Given the description of an element on the screen output the (x, y) to click on. 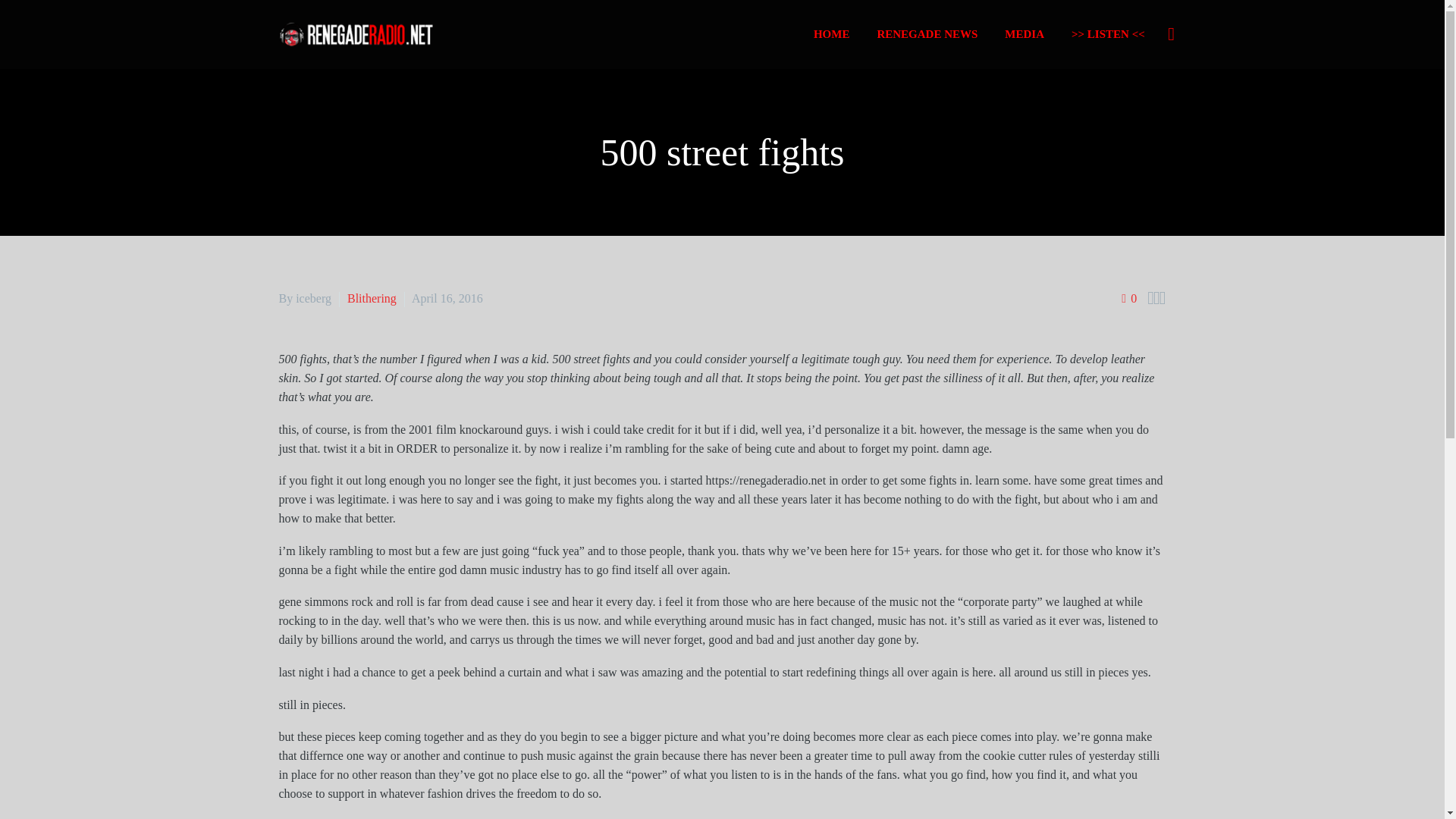
View all posts in Blithering (371, 297)
Blithering (371, 297)
RENEGADE NEWS (926, 34)
HOME (831, 34)
MEDIA (1023, 34)
s (1323, 114)
